Given the description of an element on the screen output the (x, y) to click on. 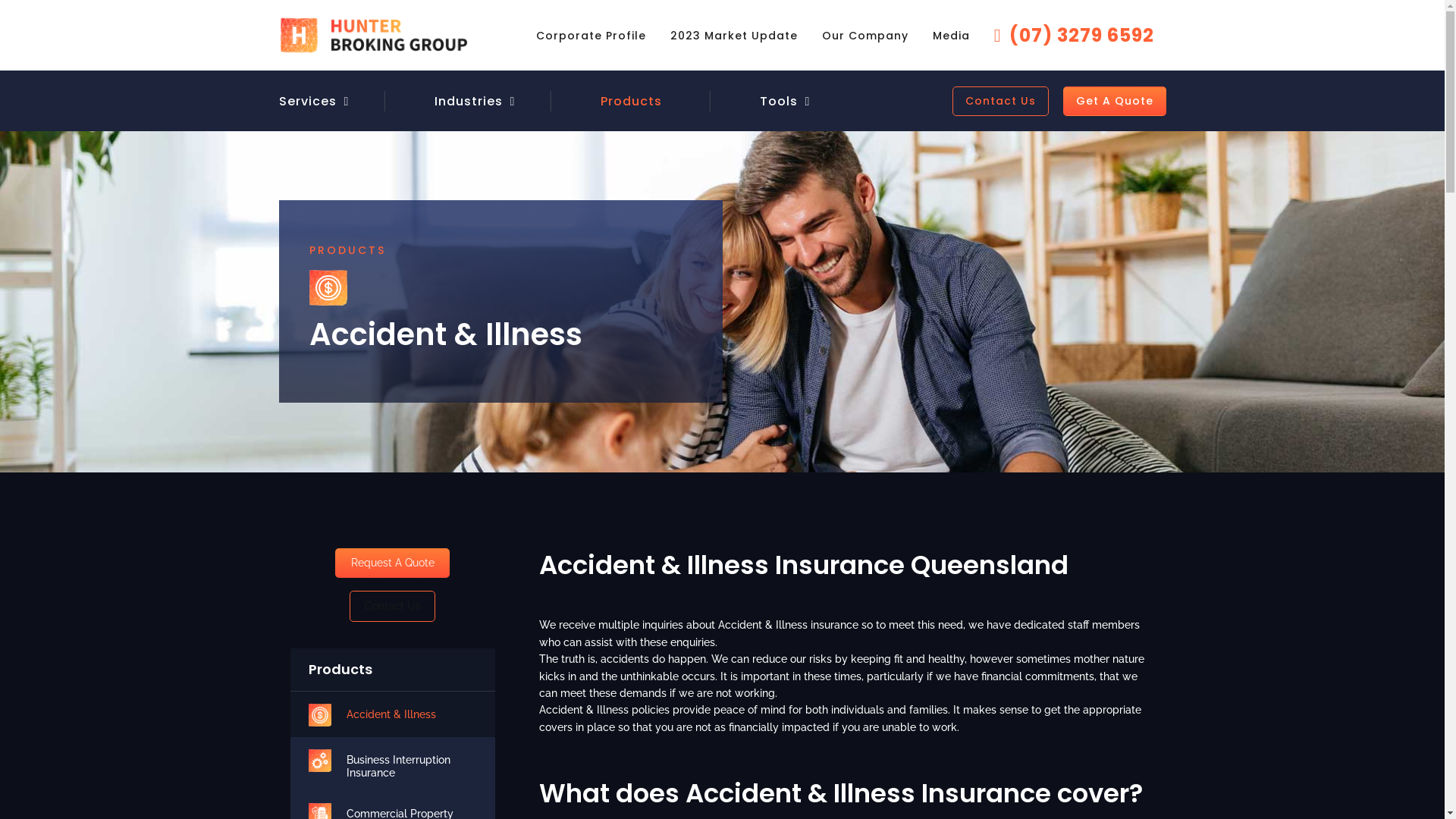
(07) 3279 6592 Element type: text (1074, 35)
Products Element type: text (631, 100)
Services Element type: text (330, 100)
Tools Element type: text (778, 100)
Contact Us Element type: text (1000, 101)
Our Company Element type: text (864, 34)
2023 Market Update Element type: text (733, 34)
Business Interruption Insurance Element type: text (410, 766)
Contact Us Element type: text (392, 606)
Industries Element type: text (467, 100)
Media Element type: text (951, 34)
Request A Quote Element type: text (392, 562)
Corporate Profile Element type: text (591, 34)
Get A Quote Element type: text (1114, 101)
Accident & Illness Element type: text (410, 714)
